Given the description of an element on the screen output the (x, y) to click on. 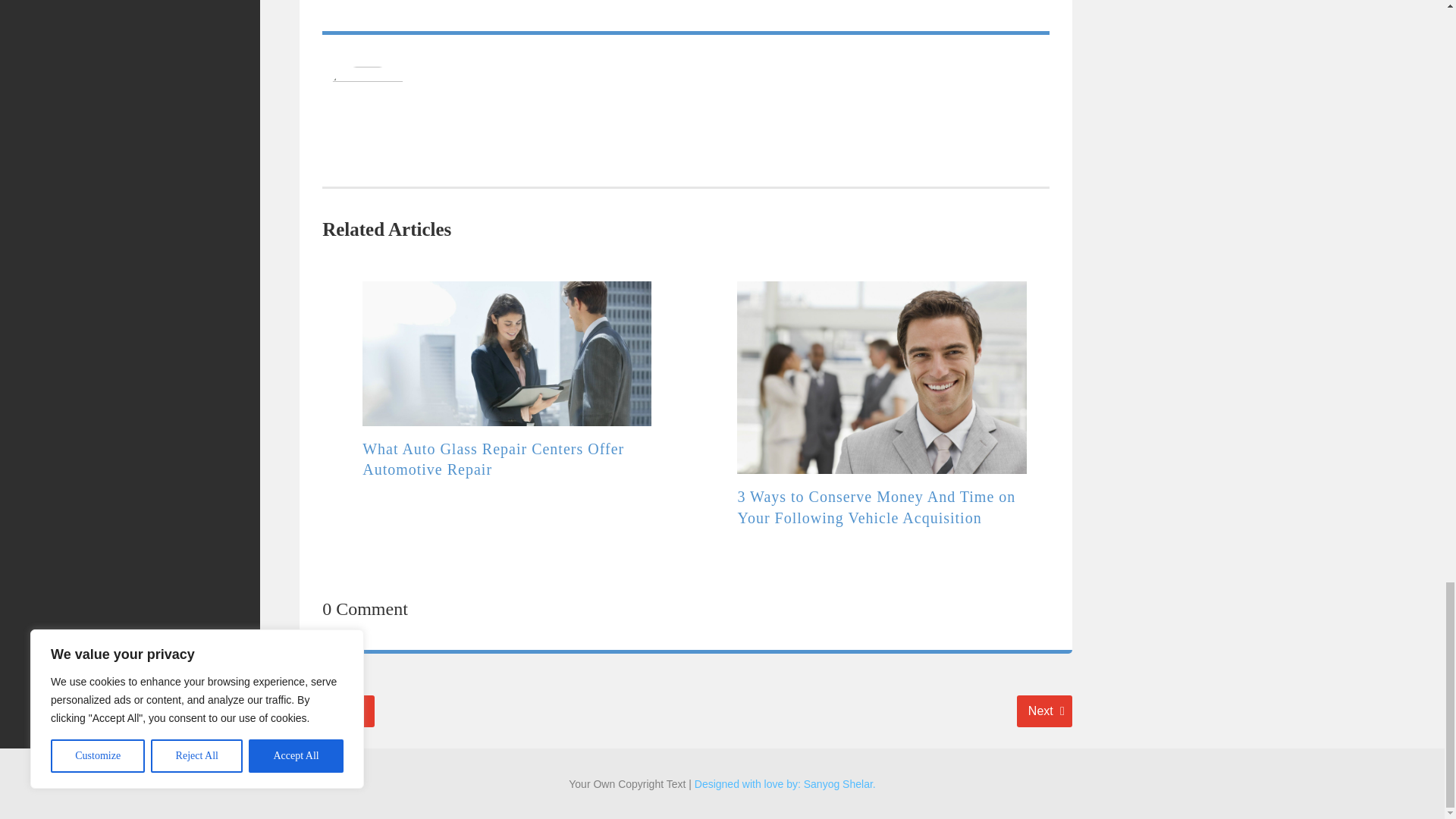
What Auto Glass Repair Centers Offer Automotive Repair (493, 459)
